Given the description of an element on the screen output the (x, y) to click on. 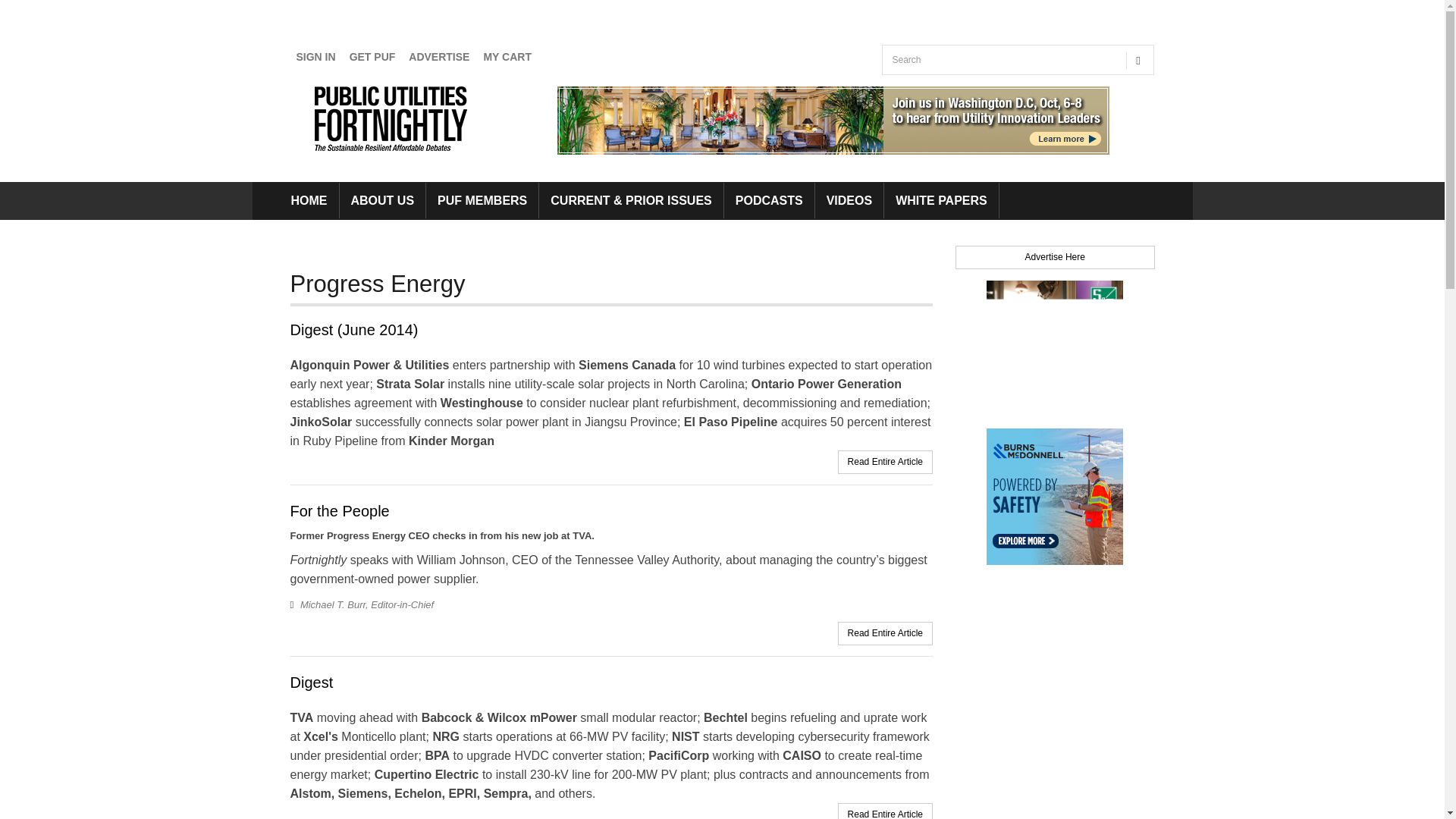
WHITE PAPERS (940, 200)
SIGN IN (314, 57)
For the People (338, 510)
Home (393, 118)
Read Entire Article (885, 633)
Enter the terms you wish to search for. (1001, 60)
GET PUF (372, 57)
ABOUT US (382, 200)
Digest (311, 682)
